Given the description of an element on the screen output the (x, y) to click on. 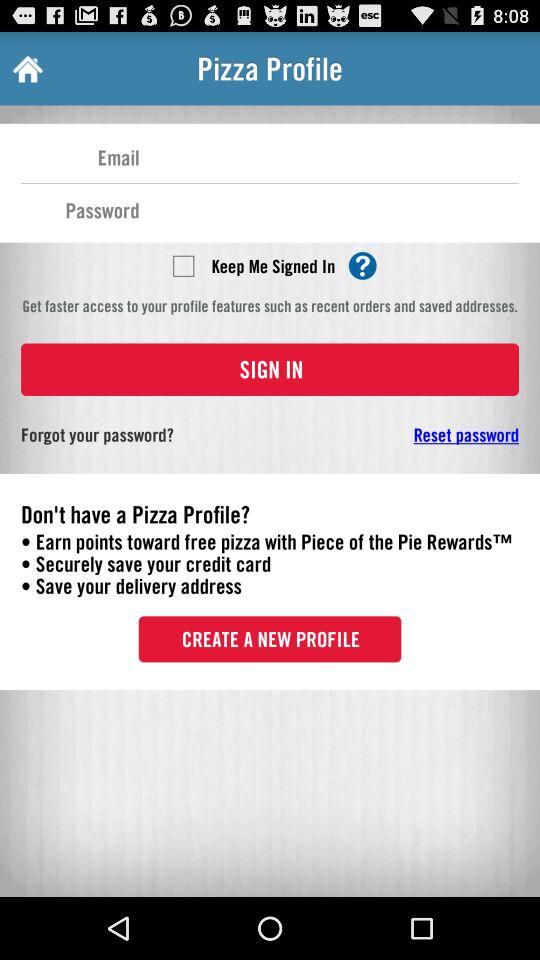
choose the app above the don t have (406, 434)
